Given the description of an element on the screen output the (x, y) to click on. 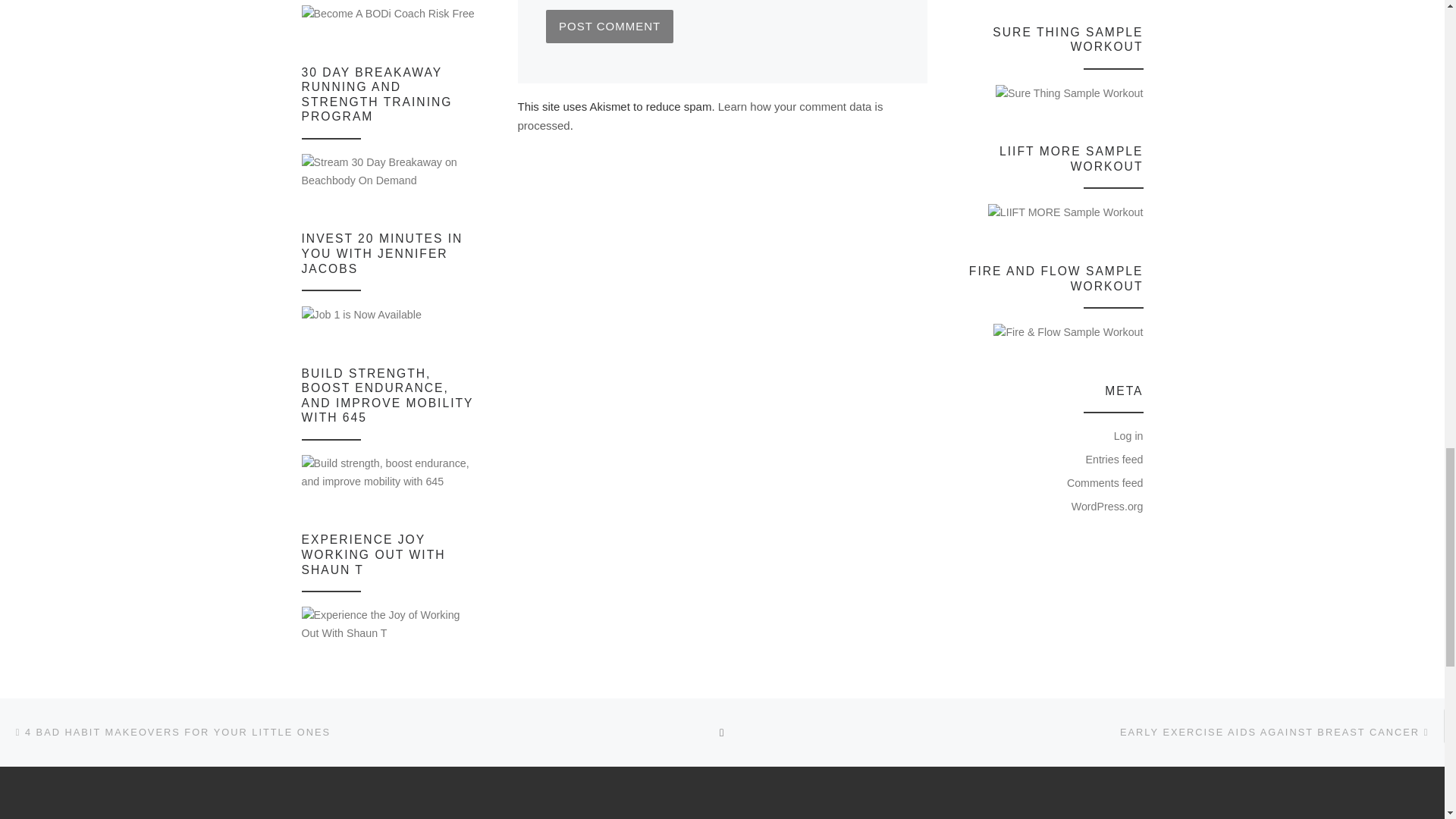
Post Comment (609, 26)
Post Comment (609, 26)
Learn how your comment data is processed (699, 115)
